Given the description of an element on the screen output the (x, y) to click on. 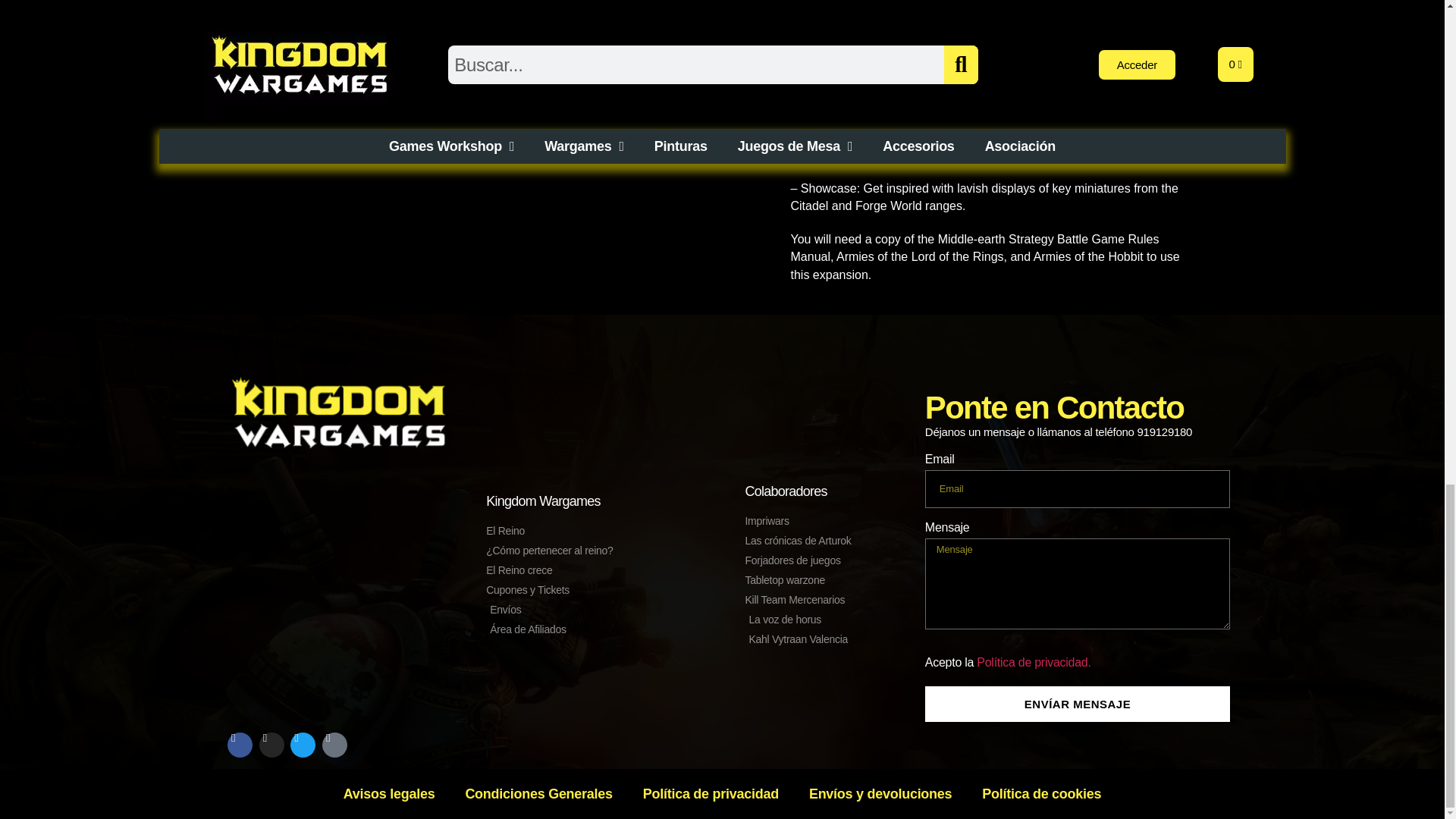
calle arroto de la elipa 12 madrid (339, 584)
